Given the description of an element on the screen output the (x, y) to click on. 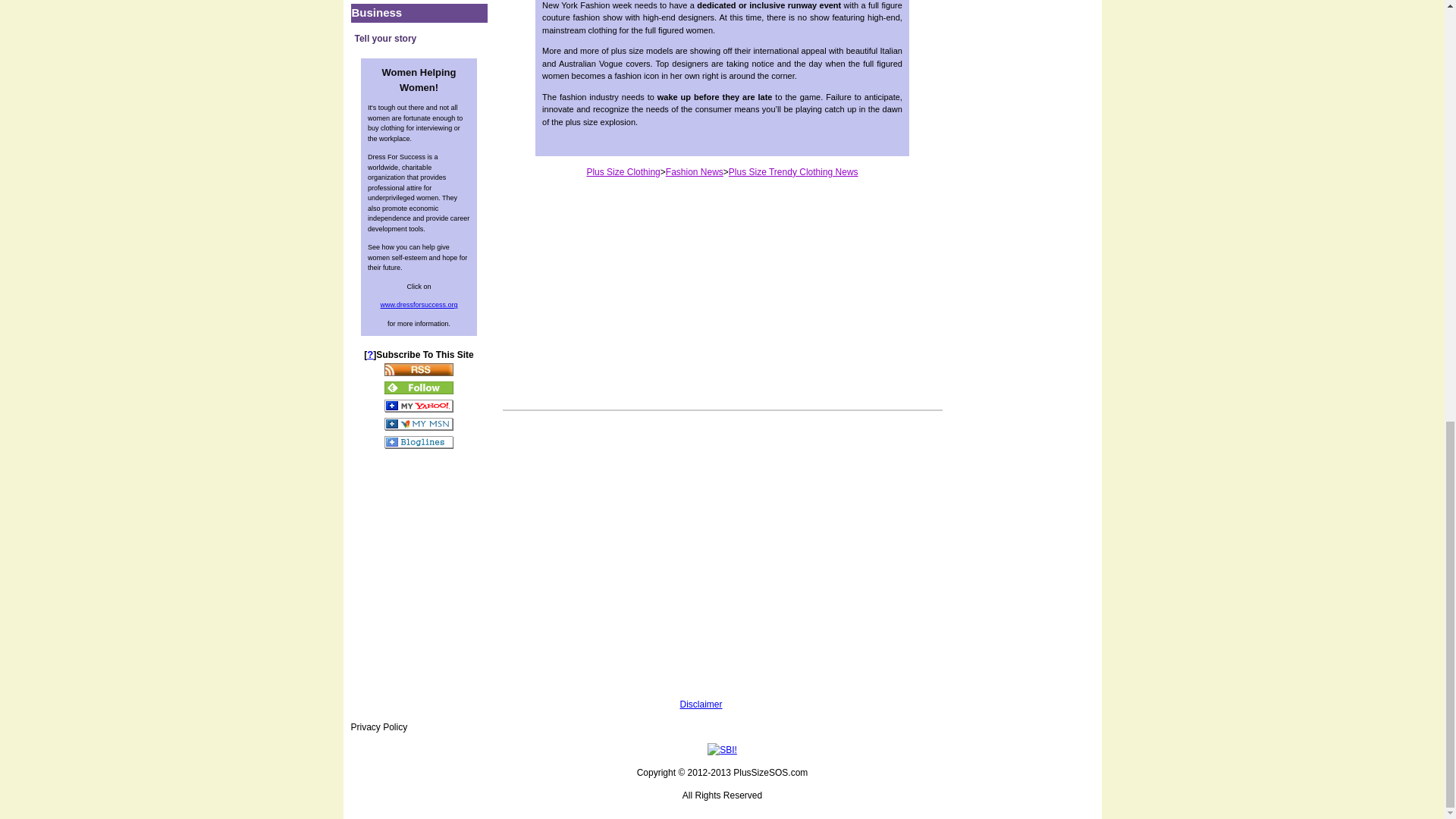
Tell your story (418, 38)
Plus Size Clothing (622, 172)
www.dressforsuccess.org (418, 303)
Disclaimer (700, 704)
Plus Size Trendy Clothing News (794, 172)
Fashion News (694, 172)
